Given the description of an element on the screen output the (x, y) to click on. 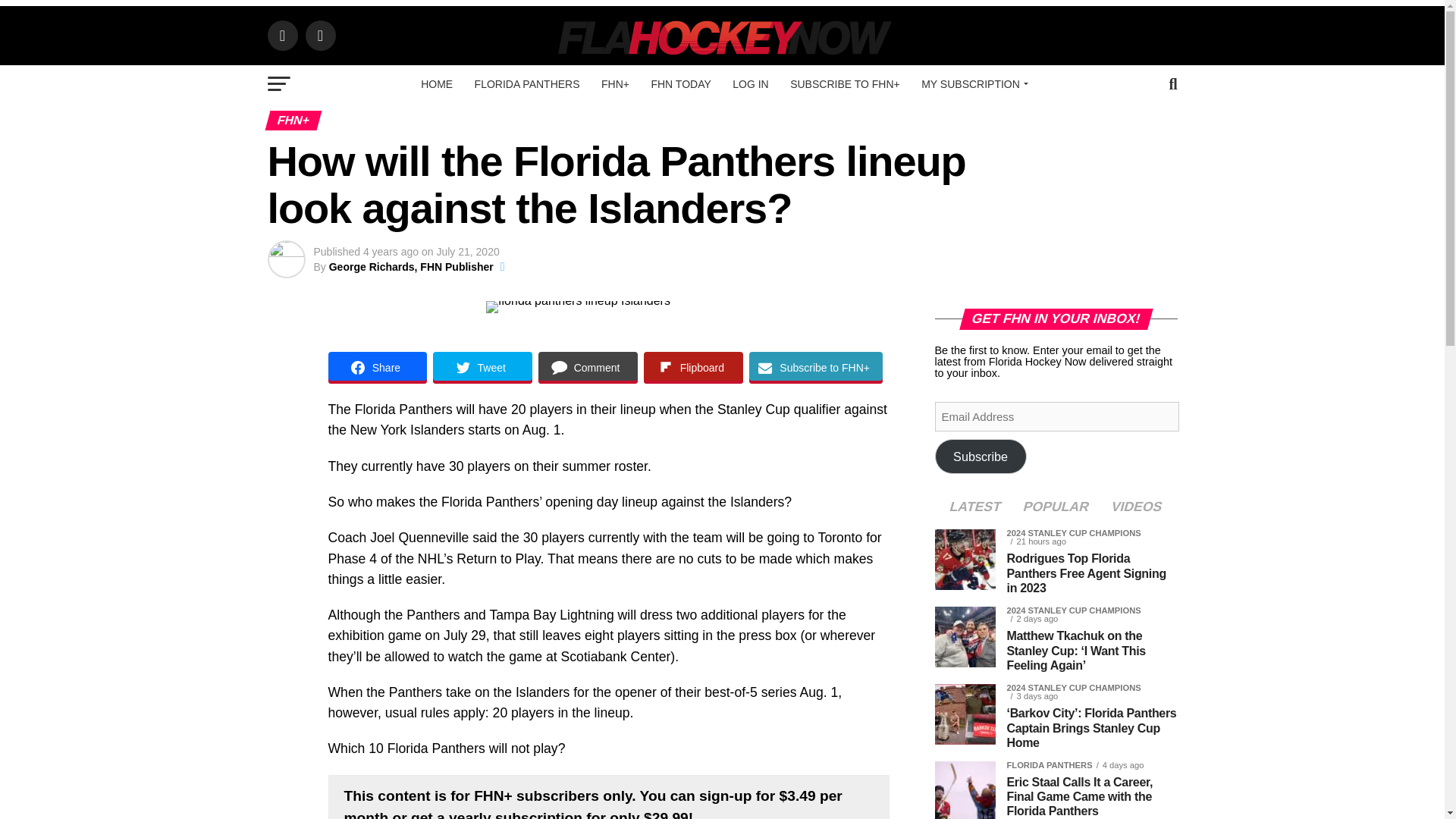
Share on Tweet (482, 368)
LOG IN (750, 84)
FLORIDA PANTHERS (527, 84)
FHN TODAY (680, 84)
Share on Flipboard (692, 368)
Share on Comment (587, 368)
HOME (436, 84)
Share on Share (376, 368)
Posts by George Richards, FHN Publisher (411, 266)
